Given the description of an element on the screen output the (x, y) to click on. 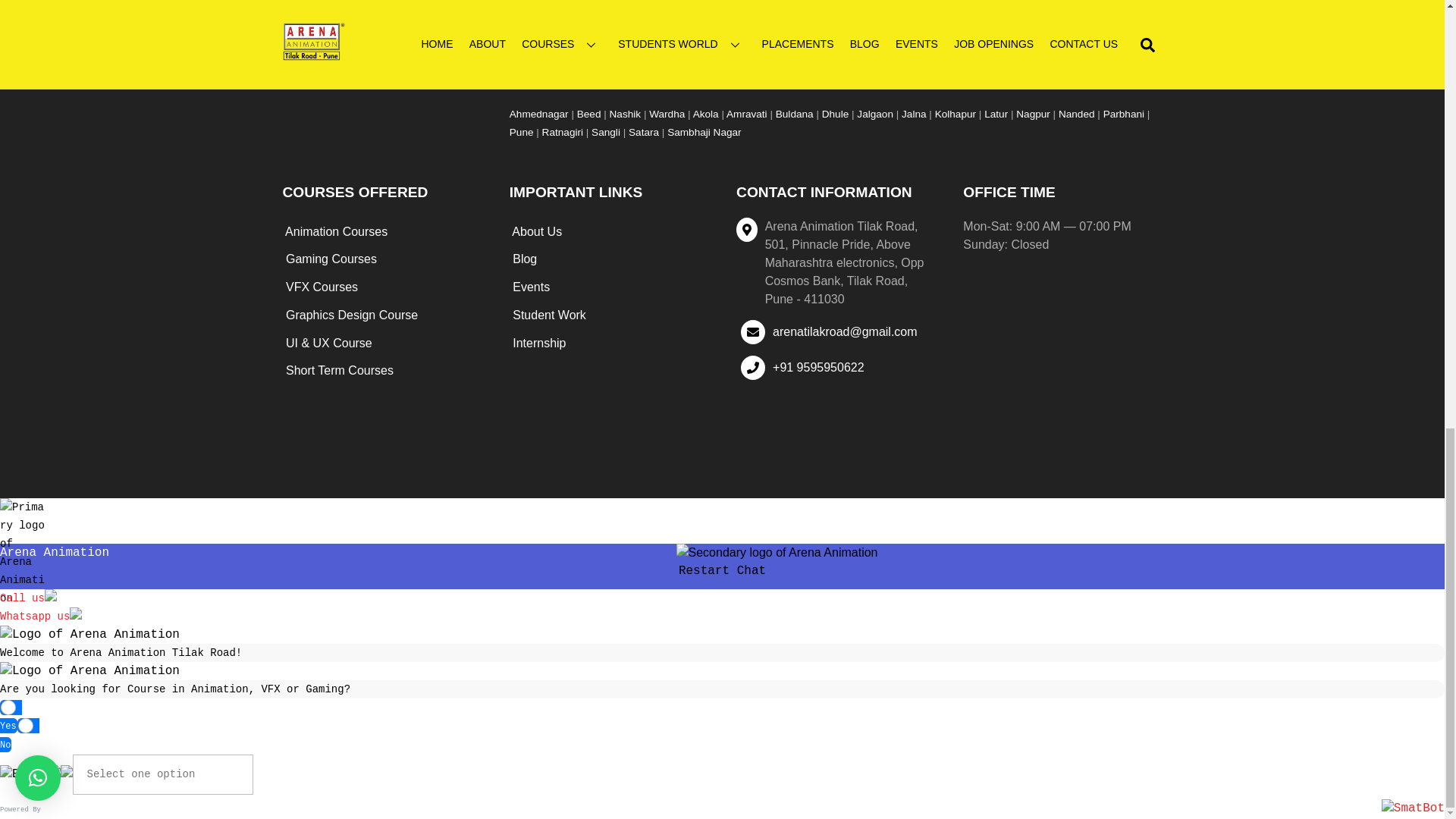
Contact redirection (40, 616)
Contact redirection (28, 598)
Yes (8, 707)
No (25, 725)
